Given the description of an element on the screen output the (x, y) to click on. 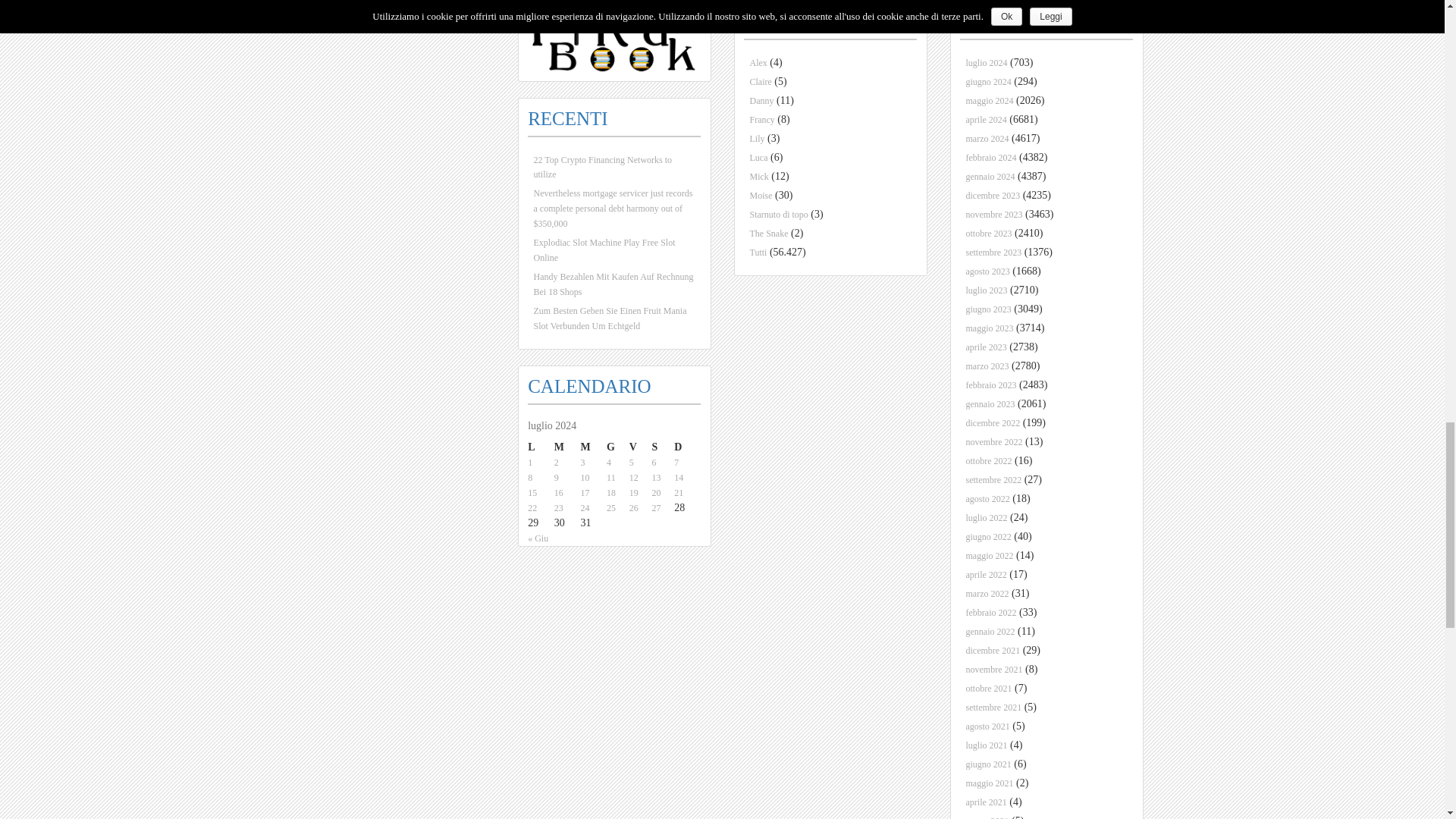
sabato (662, 447)
